Given the description of an element on the screen output the (x, y) to click on. 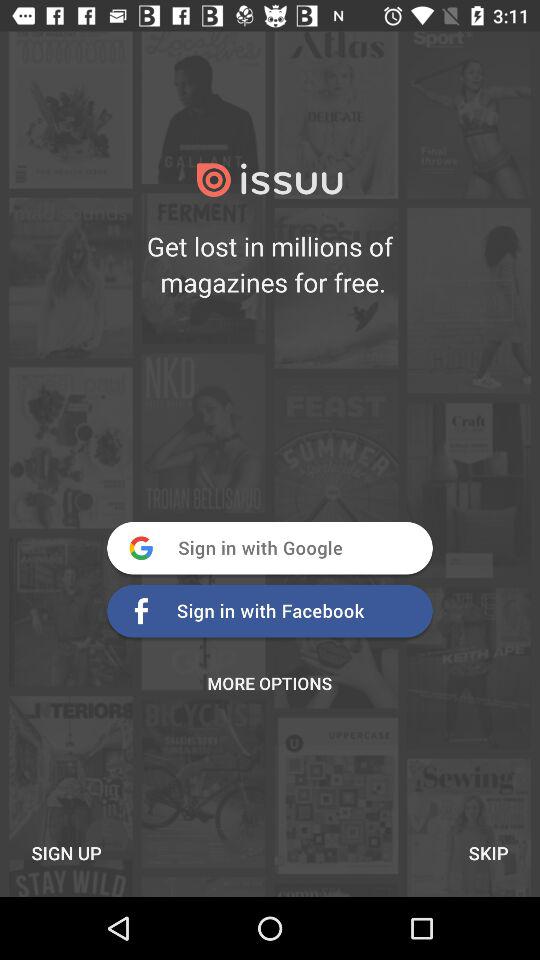
press item next to skip (66, 852)
